Given the description of an element on the screen output the (x, y) to click on. 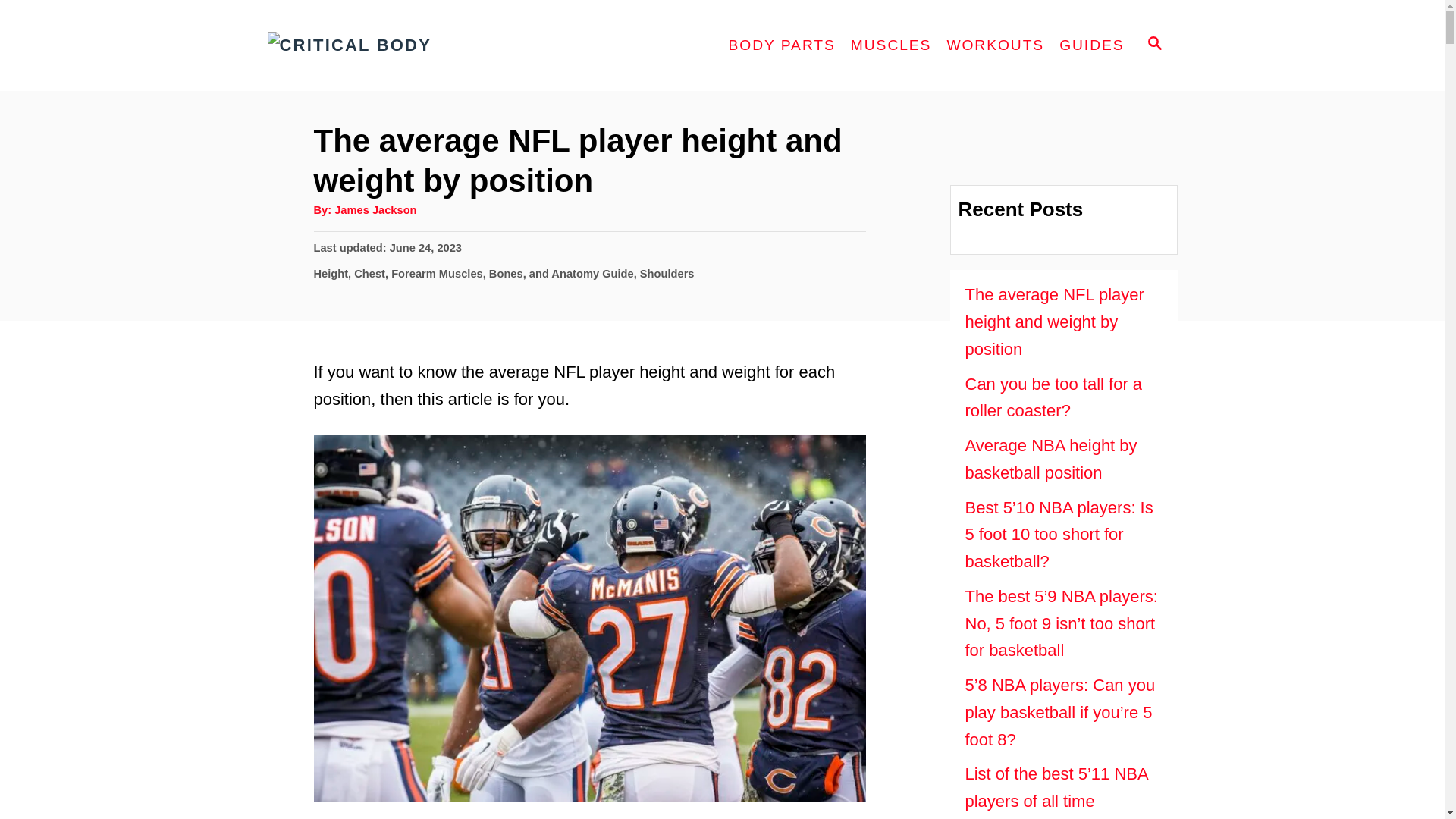
Critical Body (403, 45)
SEARCH (1153, 45)
MUSCLES (891, 45)
BODY PARTS (781, 45)
